Given the description of an element on the screen output the (x, y) to click on. 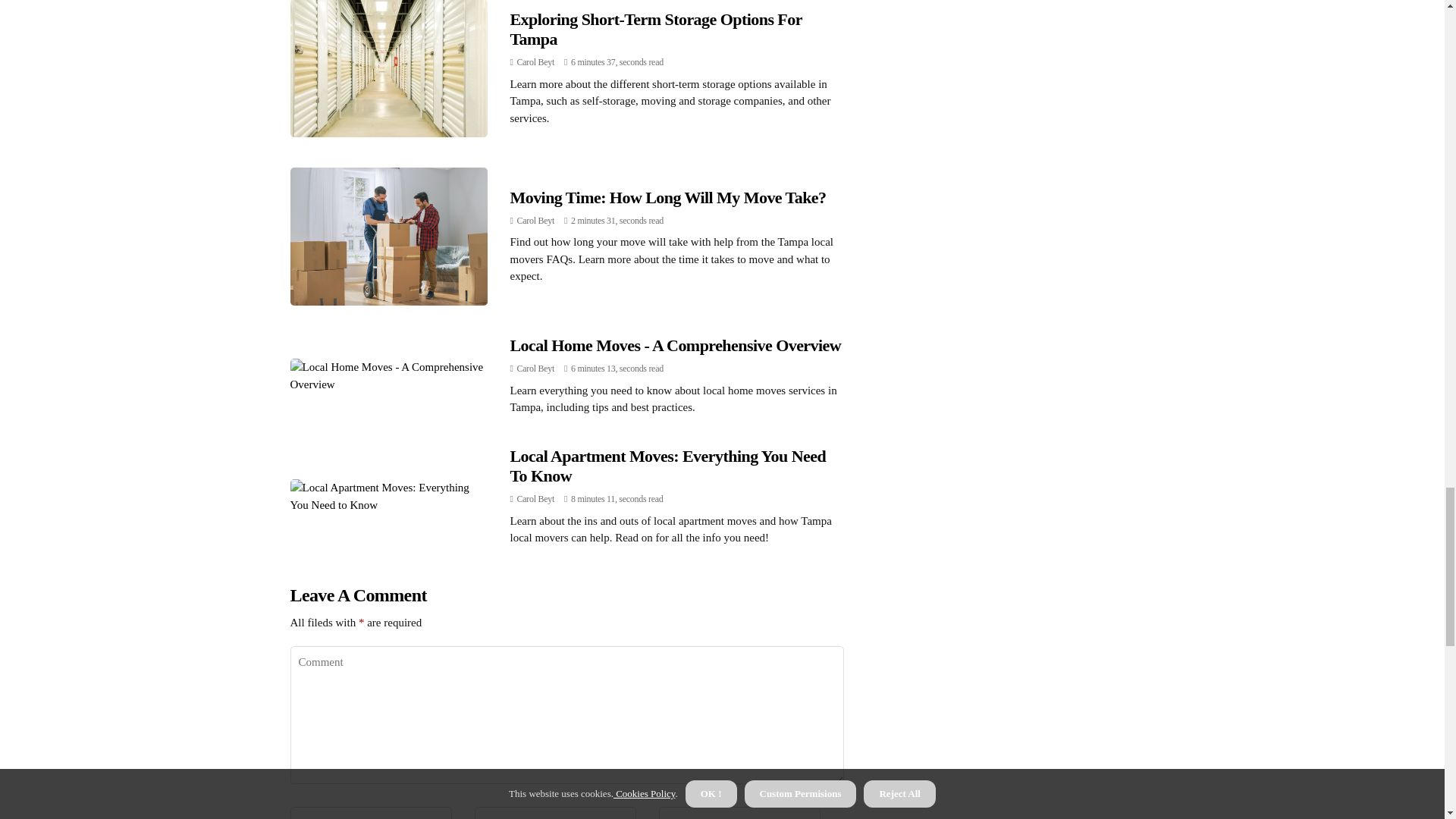
Posts by Carol Beyt (535, 61)
Posts by Carol Beyt (535, 220)
Posts by Carol Beyt (535, 368)
Posts by Carol Beyt (535, 498)
